Given the description of an element on the screen output the (x, y) to click on. 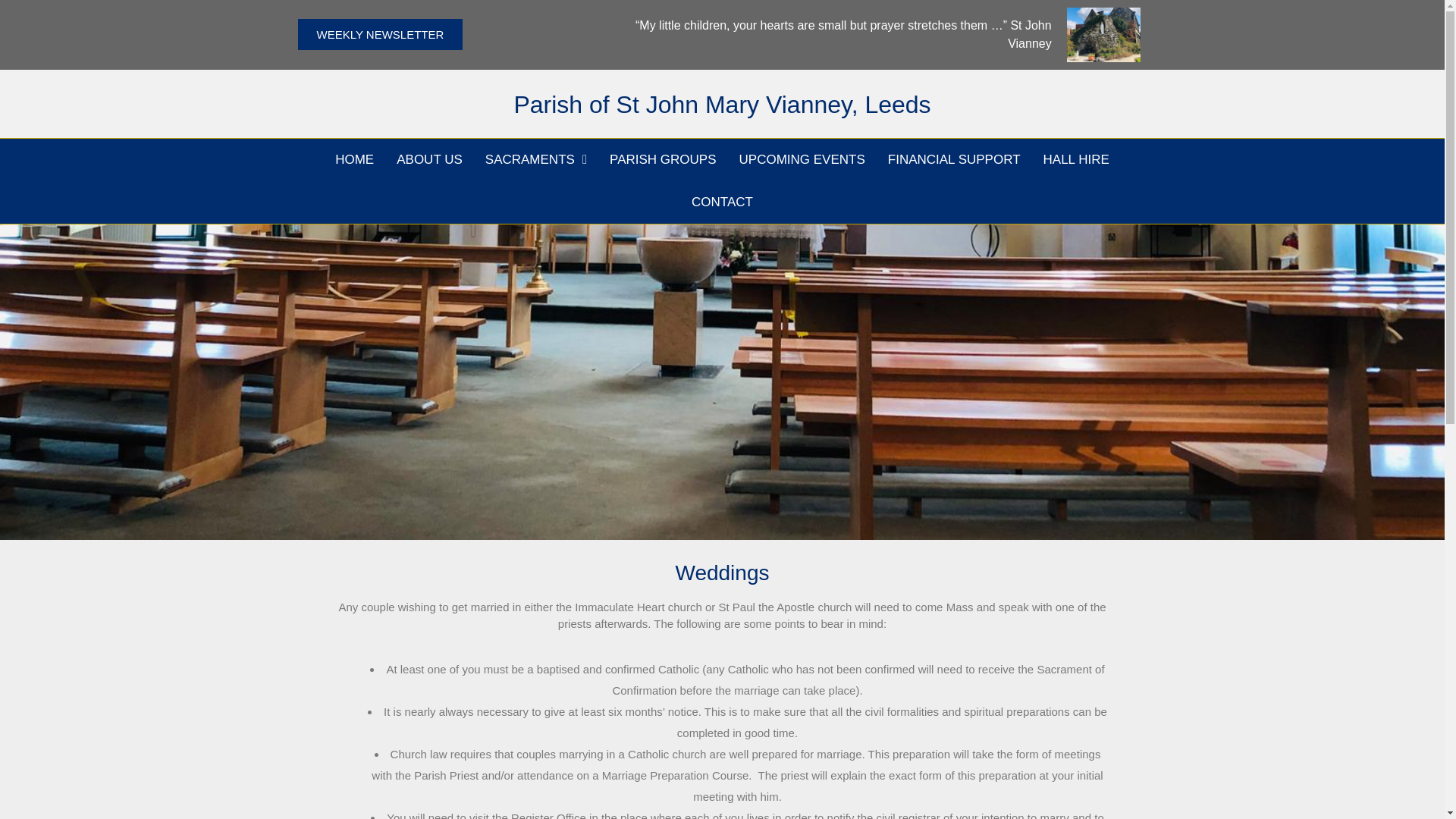
HOME (354, 159)
CONTACT (721, 201)
ABOUT US (429, 159)
WEEKLY NEWSLETTER (380, 33)
PARISH GROUPS (662, 159)
FINANCIAL SUPPORT (954, 159)
Parish of St John Mary Vianney, Leeds (721, 103)
SACRAMENTS (536, 159)
UPCOMING EVENTS (802, 159)
HALL HIRE (1076, 159)
